Given the description of an element on the screen output the (x, y) to click on. 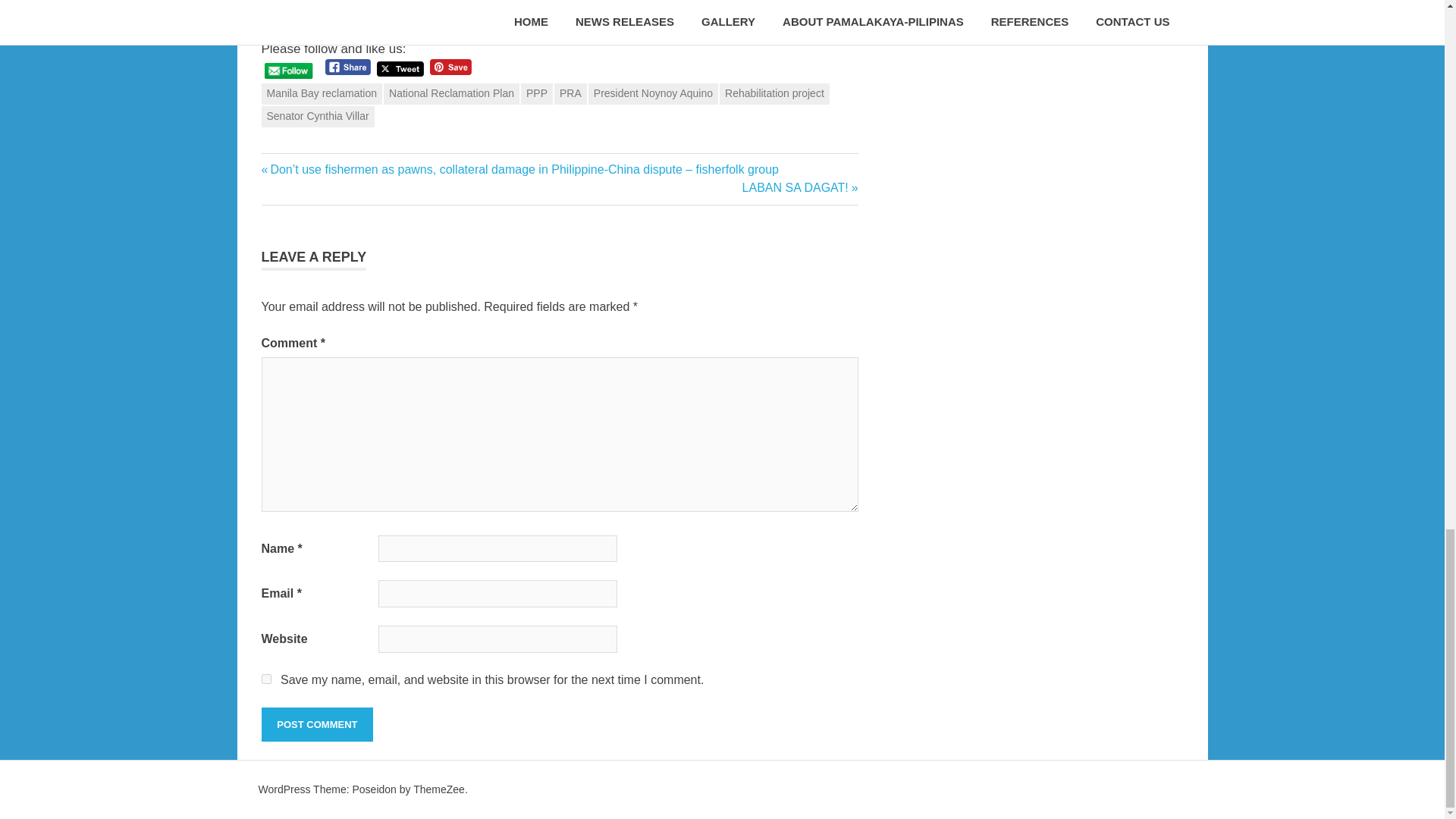
Manila Bay reclamation (320, 93)
PPP (537, 93)
ThemeZee (438, 788)
Pin Share (450, 66)
PRA (570, 93)
Senator Cynthia Villar (317, 116)
Post Comment (316, 724)
Facebook Share (347, 66)
Tweet (400, 68)
President Noynoy Aquino (652, 93)
National Reclamation Plan (451, 93)
yes (800, 187)
Rehabilitation project (265, 678)
Post Comment (774, 93)
